Given the description of an element on the screen output the (x, y) to click on. 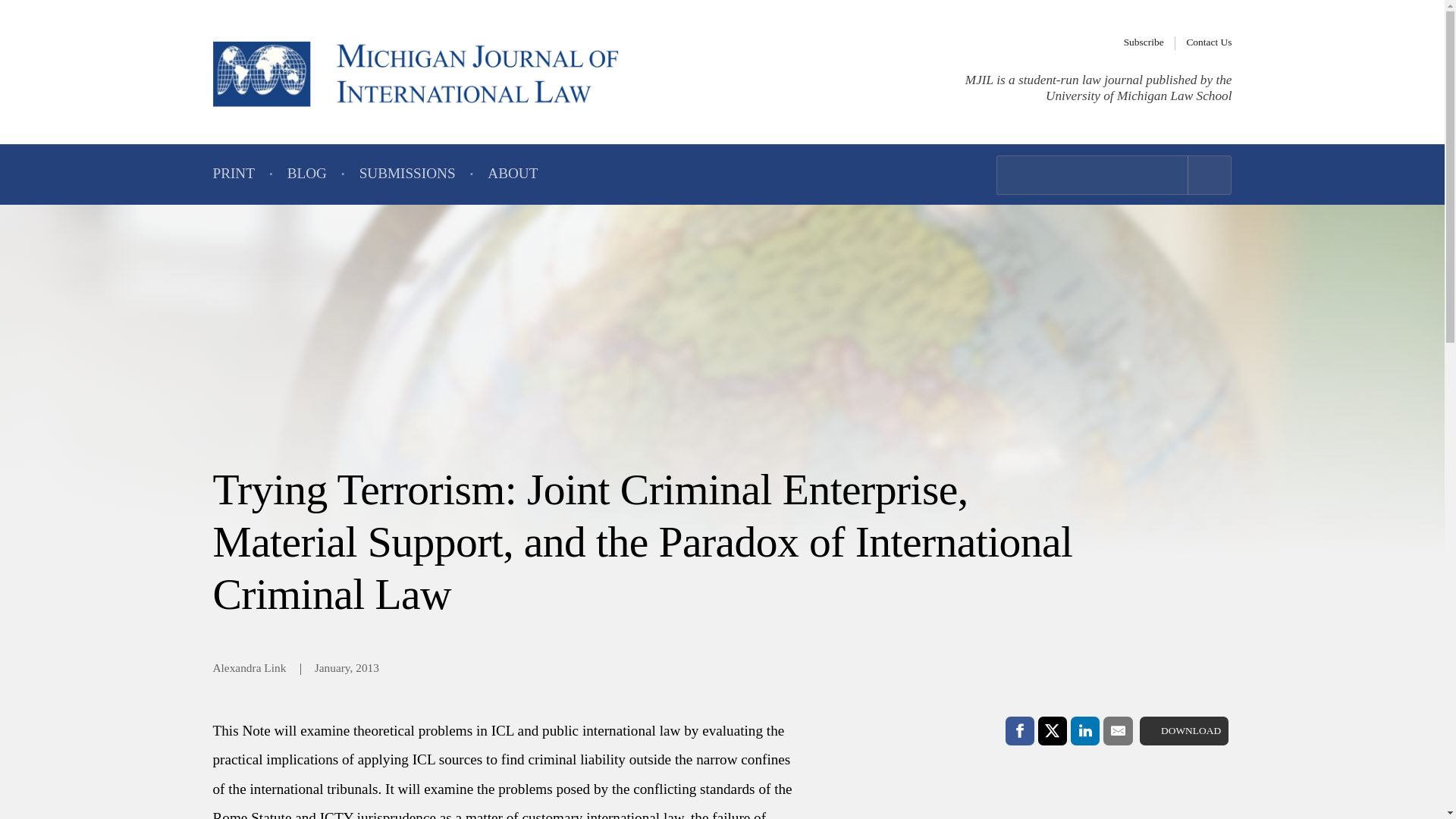
Search (1209, 174)
Contact Us (1208, 42)
E-Mail (1117, 730)
Subscribe (1143, 42)
ABOUT (512, 175)
Facebook (1019, 730)
LinkedIn (1084, 730)
SUBMISSIONS (407, 175)
Search (1209, 174)
DOWNLOAD (1184, 730)
